Given the description of an element on the screen output the (x, y) to click on. 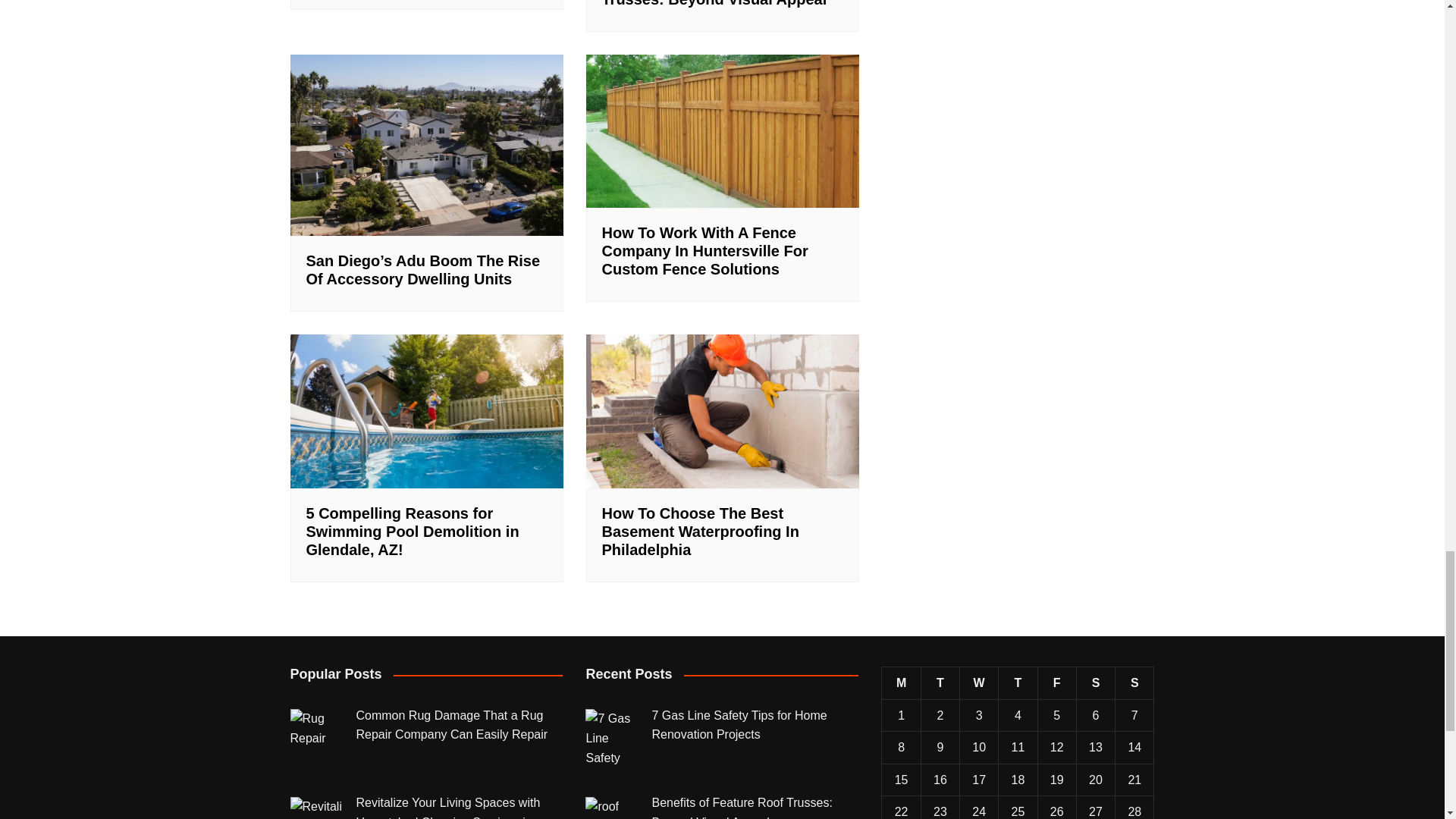
Swimming Pool (425, 411)
